Given the description of an element on the screen output the (x, y) to click on. 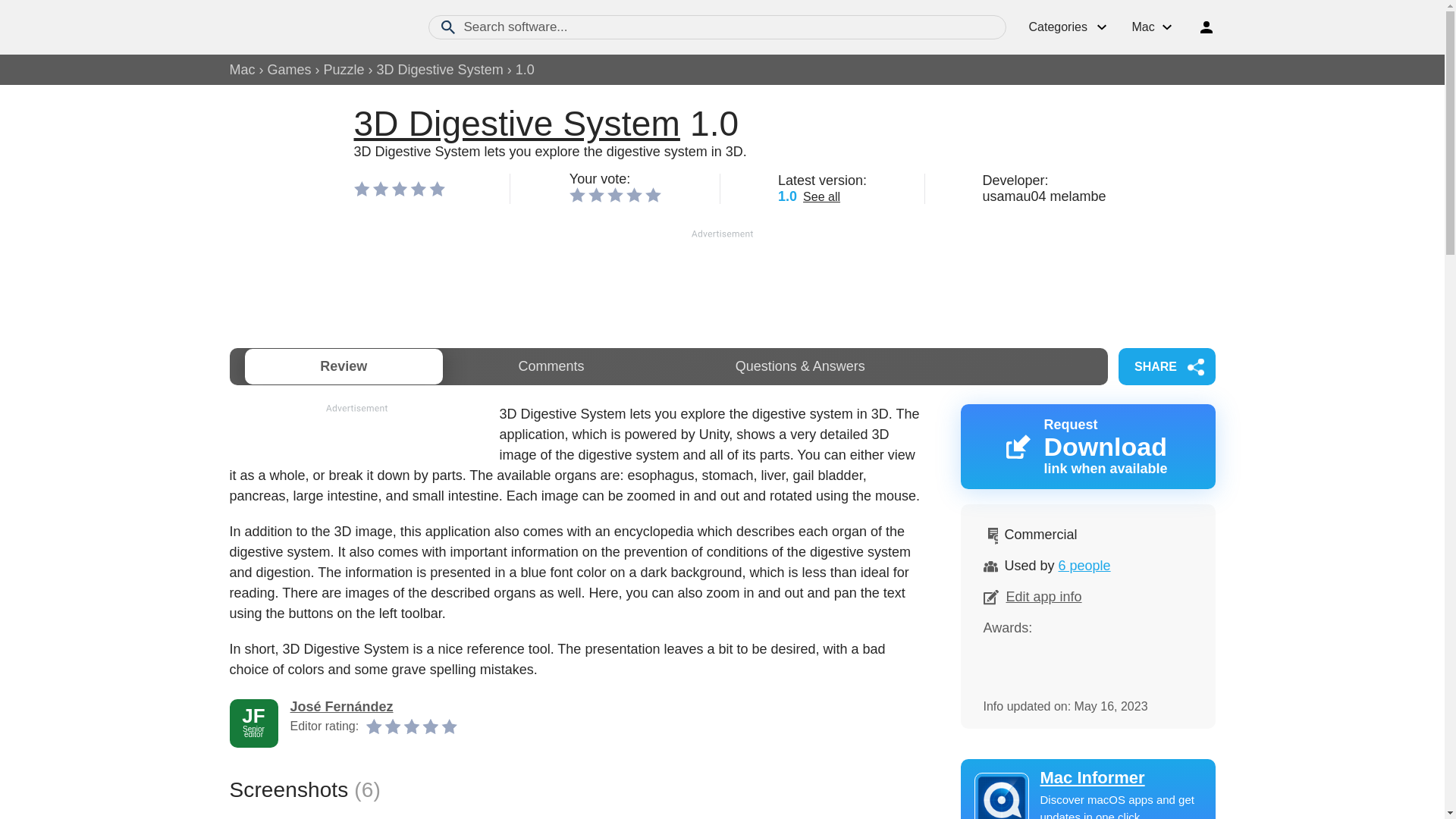
Mac (241, 69)
Games (289, 69)
Search (447, 27)
1 (576, 193)
See all (821, 195)
SHARE (1166, 366)
Mac Informer (1087, 777)
Review (343, 366)
